Given the description of an element on the screen output the (x, y) to click on. 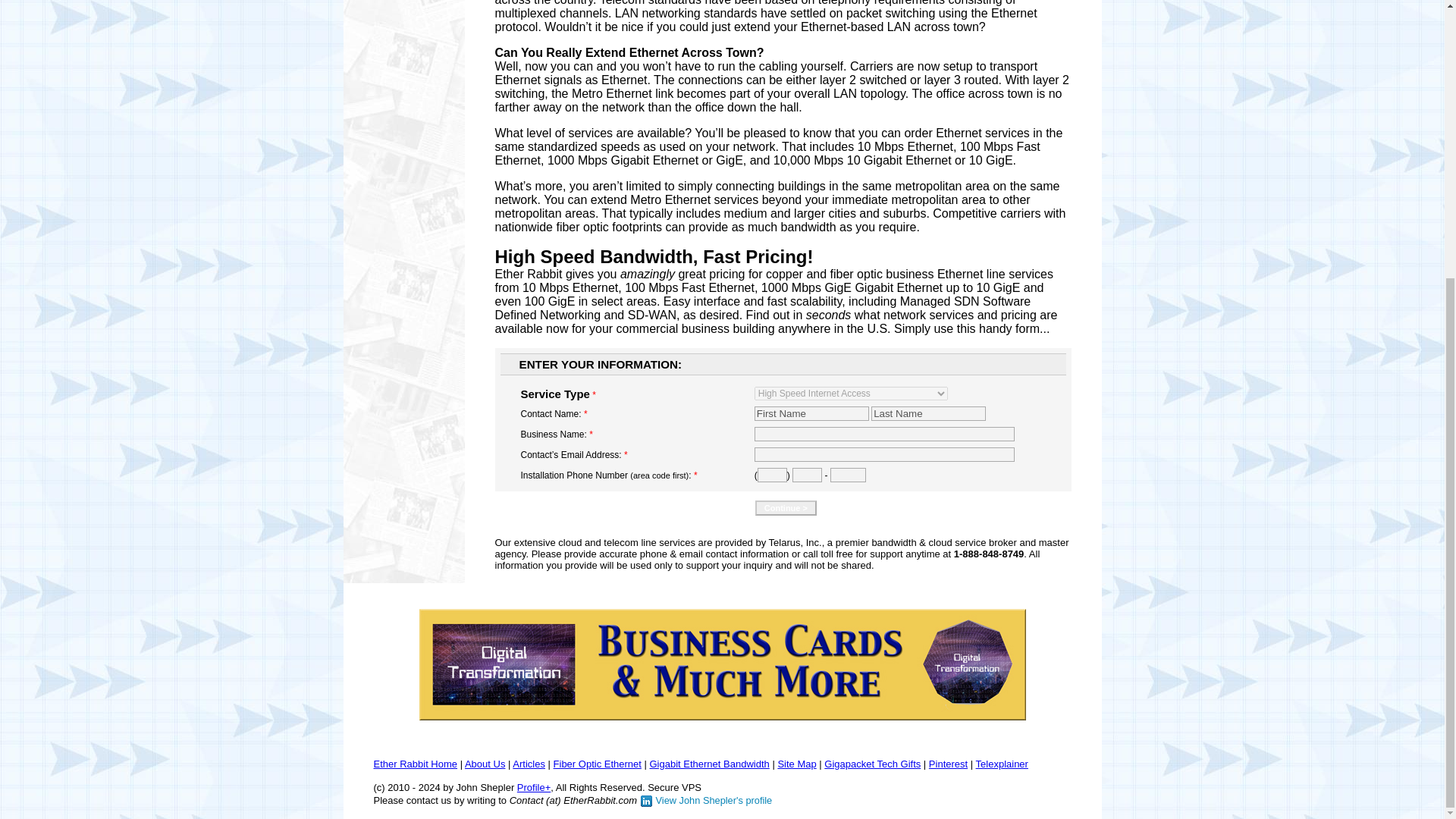
Telexplainer (1001, 763)
Articles (528, 763)
Gigabit Ethernet Bandwidth (708, 763)
Fiber Optic Ethernet (597, 763)
View John Shepler's profile (706, 799)
Pinterest (948, 763)
Gigapacket Tech Gifts (872, 763)
Ether Rabbit Home (414, 762)
Last Name (927, 413)
First Name (811, 413)
Site Map (796, 763)
About Us (484, 763)
